Given the description of an element on the screen output the (x, y) to click on. 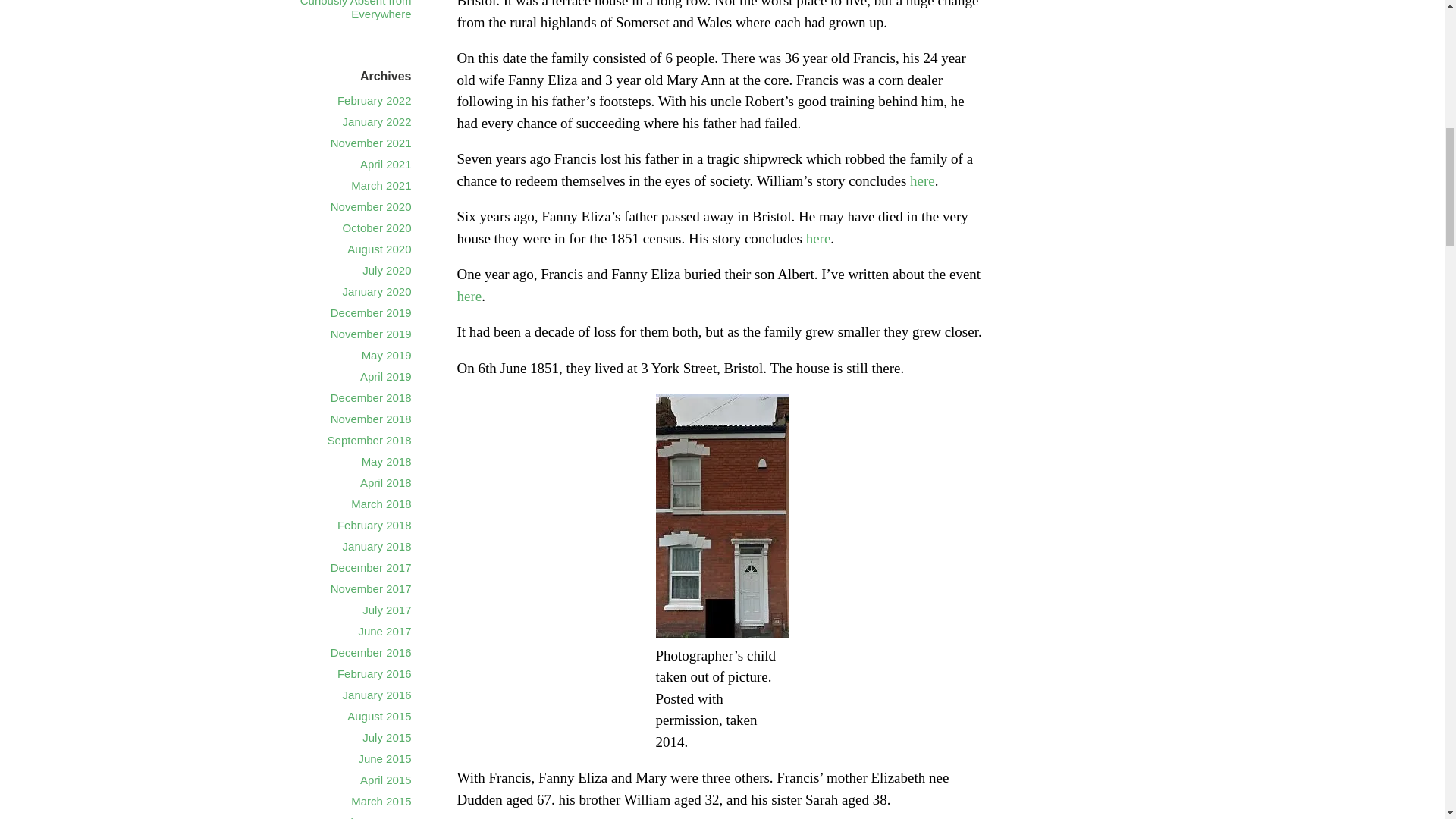
October 2020 (377, 227)
December 2019 (371, 312)
April 2021 (385, 164)
here (818, 238)
August 2020 (378, 248)
December 2018 (371, 397)
November 2019 (371, 333)
April 2019 (385, 376)
January 2022 (377, 121)
March 2021 (380, 185)
